Given the description of an element on the screen output the (x, y) to click on. 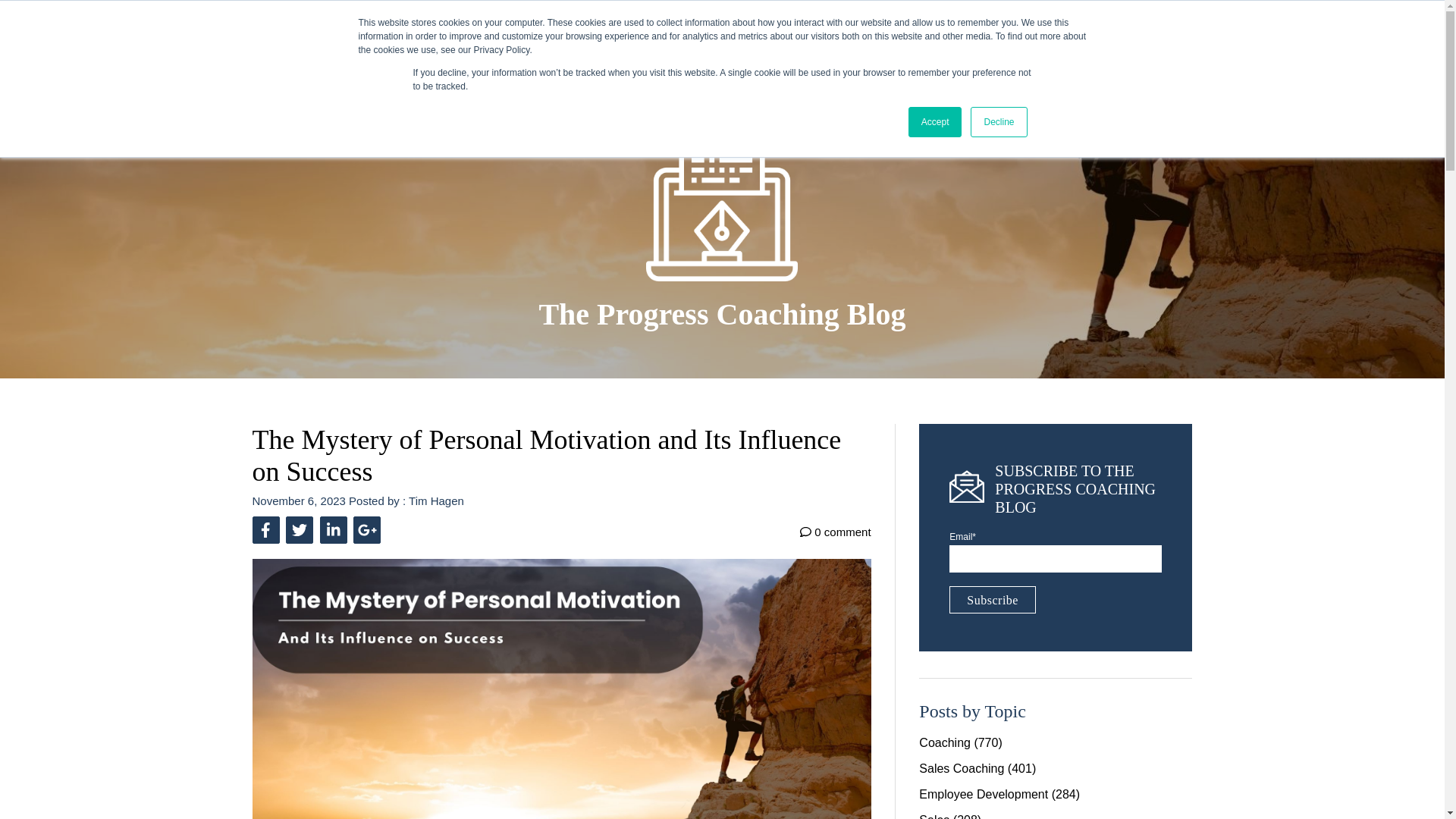
Subscribe (992, 599)
Accept (935, 122)
Decline (998, 122)
Tim Hagen (436, 500)
Subscribe (992, 599)
Progress-Coaching-Logo-not-tag-white-249px-x-56-1 (326, 34)
0 comment (834, 529)
